Given the description of an element on the screen output the (x, y) to click on. 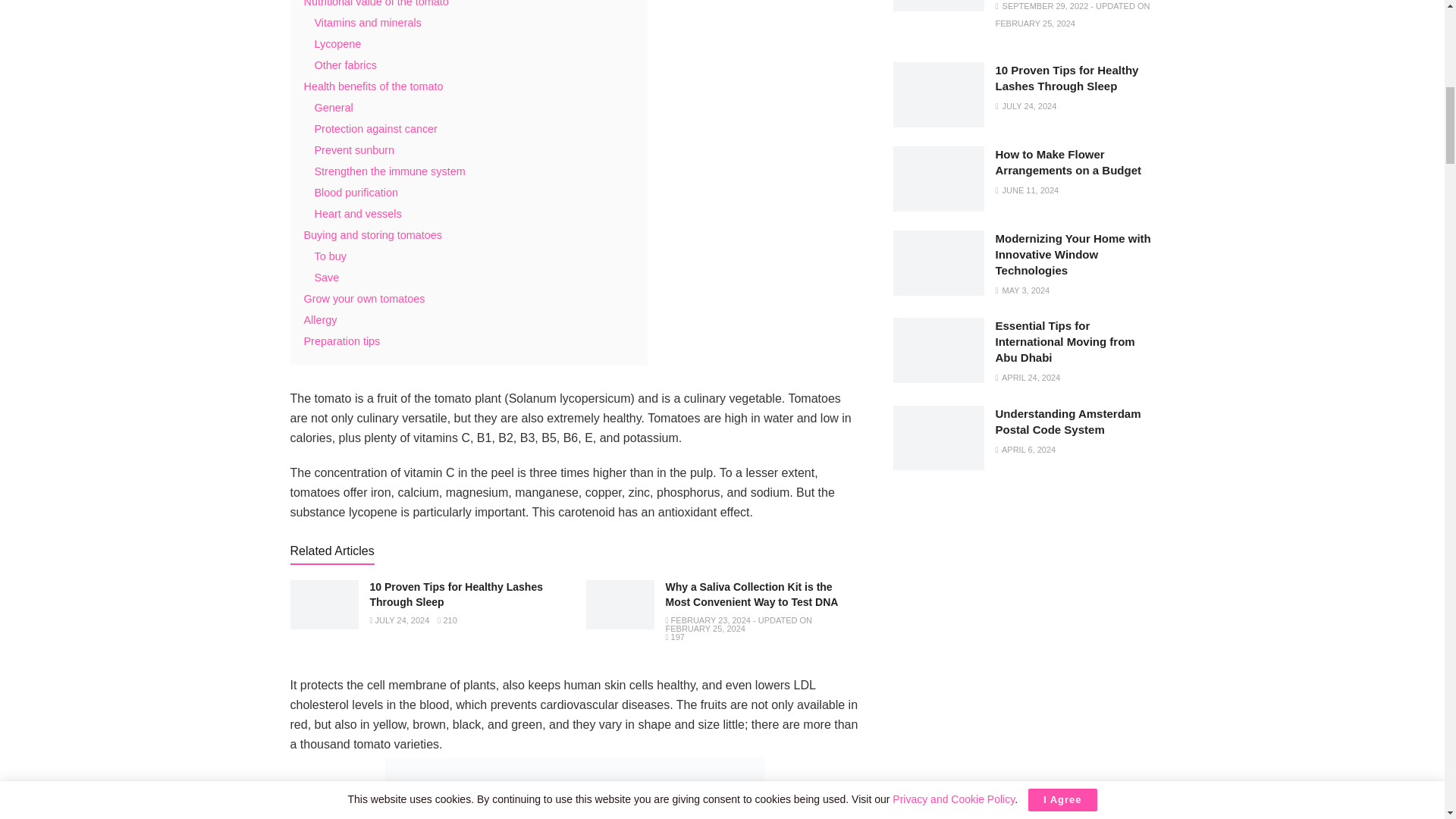
Tomatoes: Health Benefits And Nutritional Value Tomato 2 (574, 788)
10 Proven Tips For Healthy Lashes Through Sleep 5 (323, 604)
